Given the description of an element on the screen output the (x, y) to click on. 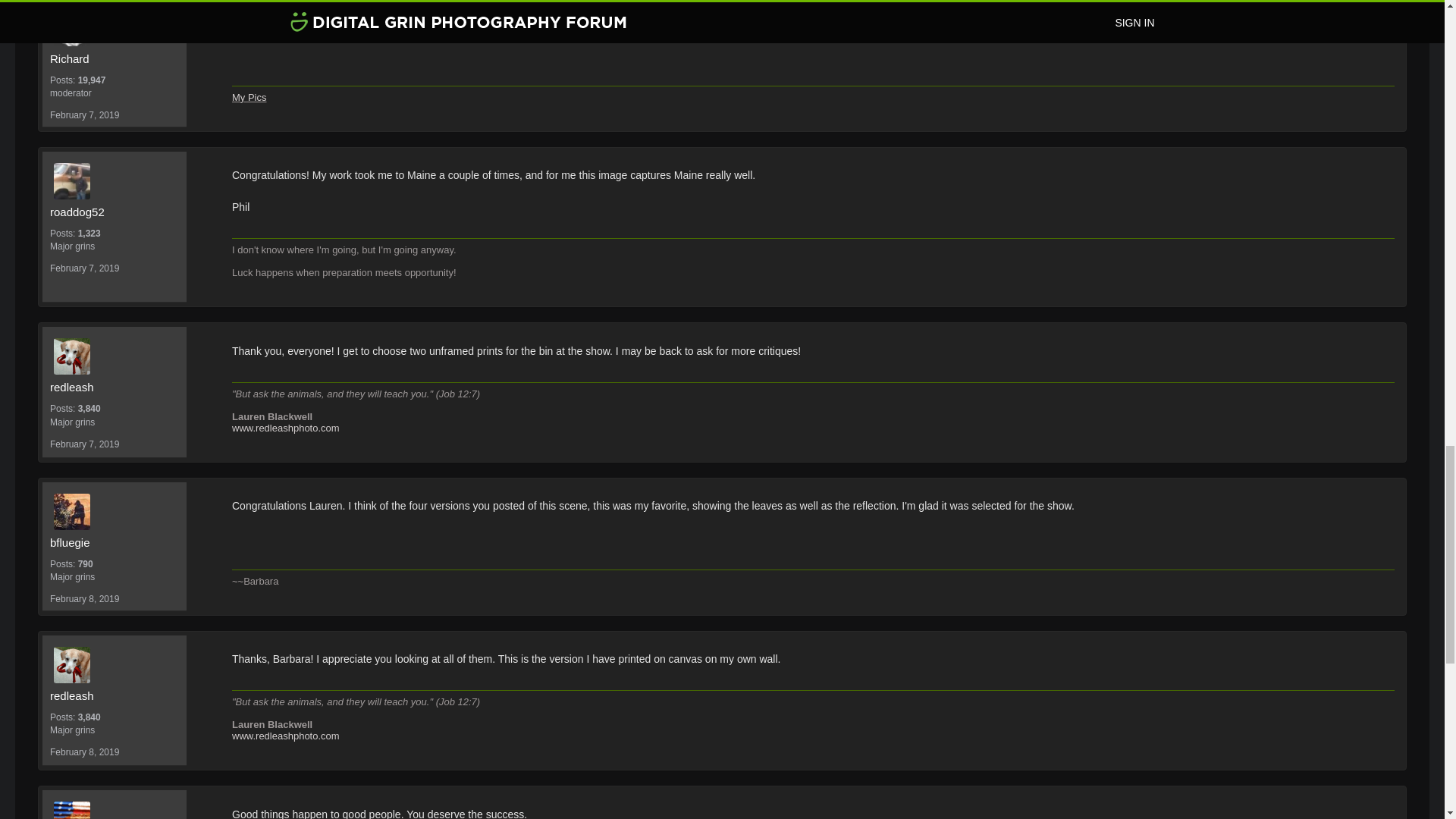
February 7, 2019 (84, 114)
My Pics (248, 97)
Richard (114, 58)
